Given the description of an element on the screen output the (x, y) to click on. 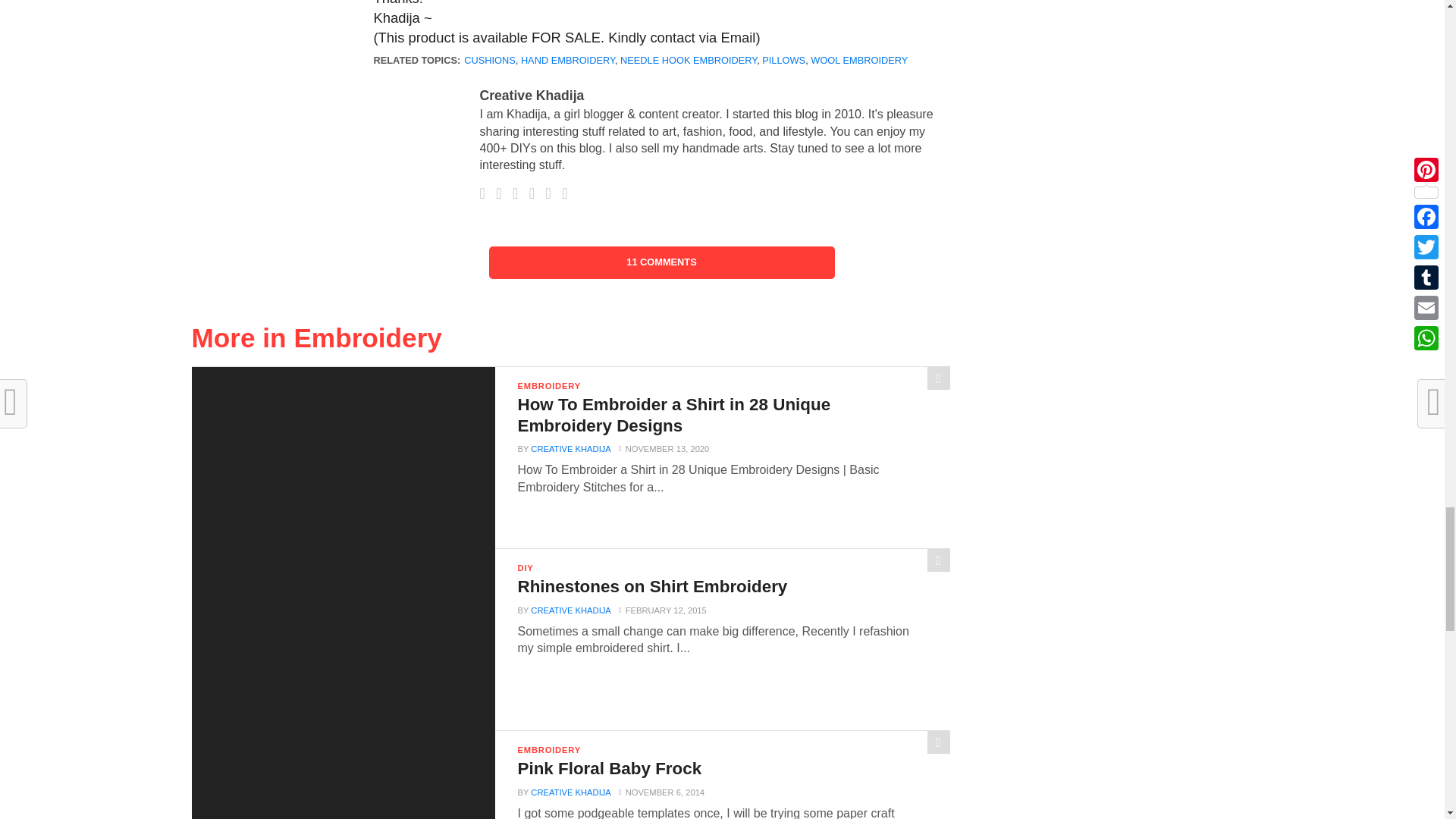
Posts by Creative Khadija (531, 95)
Posts by Creative Khadija (570, 610)
Posts by Creative Khadija (570, 448)
